Given the description of an element on the screen output the (x, y) to click on. 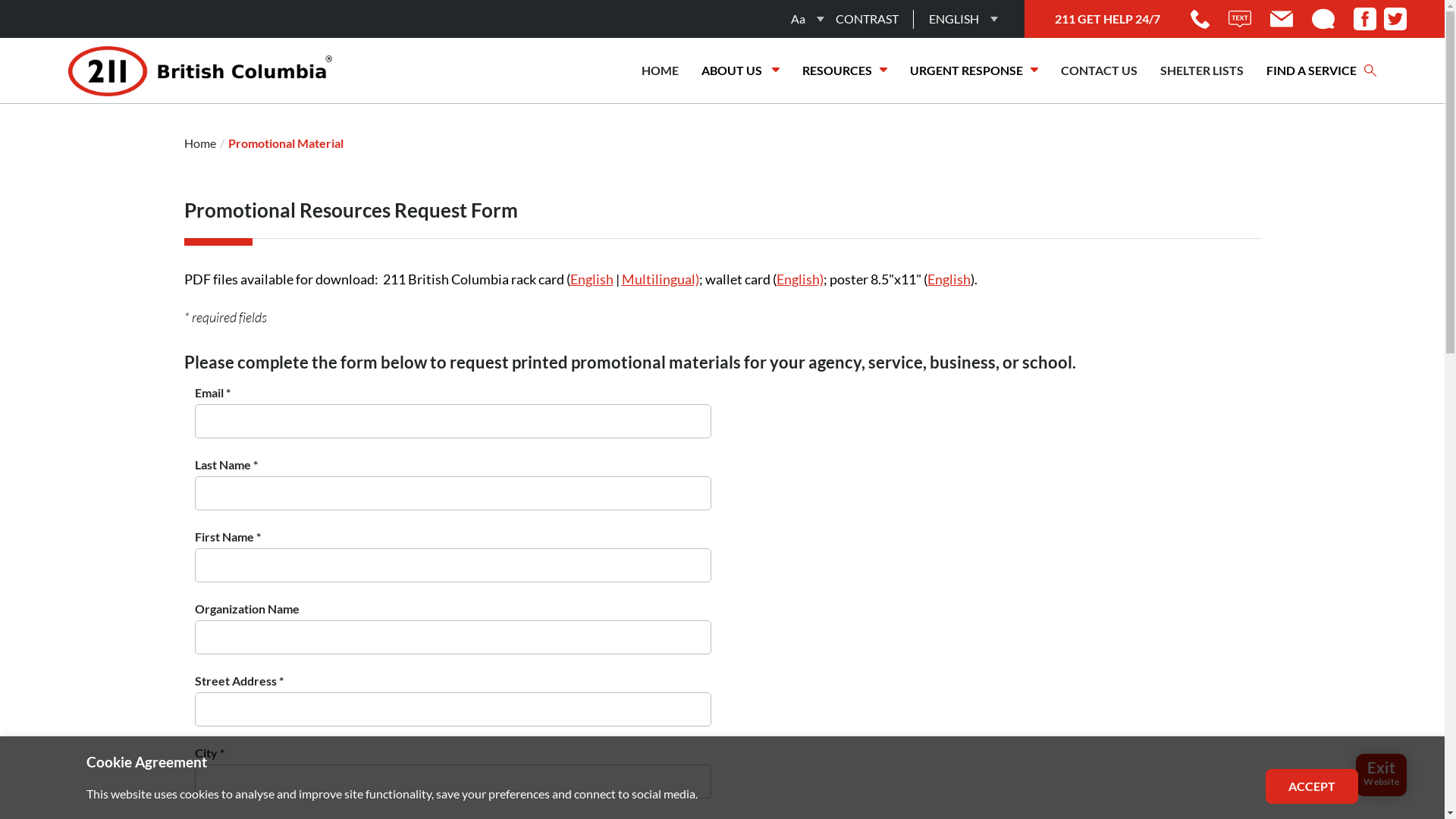
RESOURCES Element type: text (844, 70)
CONTACT US Element type: text (1098, 70)
Aa Element type: text (797, 18)
HOME Element type: text (660, 70)
URGENT RESPONSE Element type: text (973, 70)
English Element type: text (947, 278)
Multilingual) Element type: text (660, 278)
ACCEPT Element type: text (1311, 785)
Exit
Website Element type: text (1380, 774)
English Element type: text (591, 278)
ENGLISH Element type: text (953, 18)
English) Element type: text (799, 278)
Promotional Material Element type: text (284, 143)
Home Element type: text (199, 143)
FIND A SERVICE Element type: text (1321, 70)
SHELTER LISTS Element type: text (1201, 70)
ABOUT US Element type: text (740, 70)
CONTRAST Element type: text (866, 18)
